Given the description of an element on the screen output the (x, y) to click on. 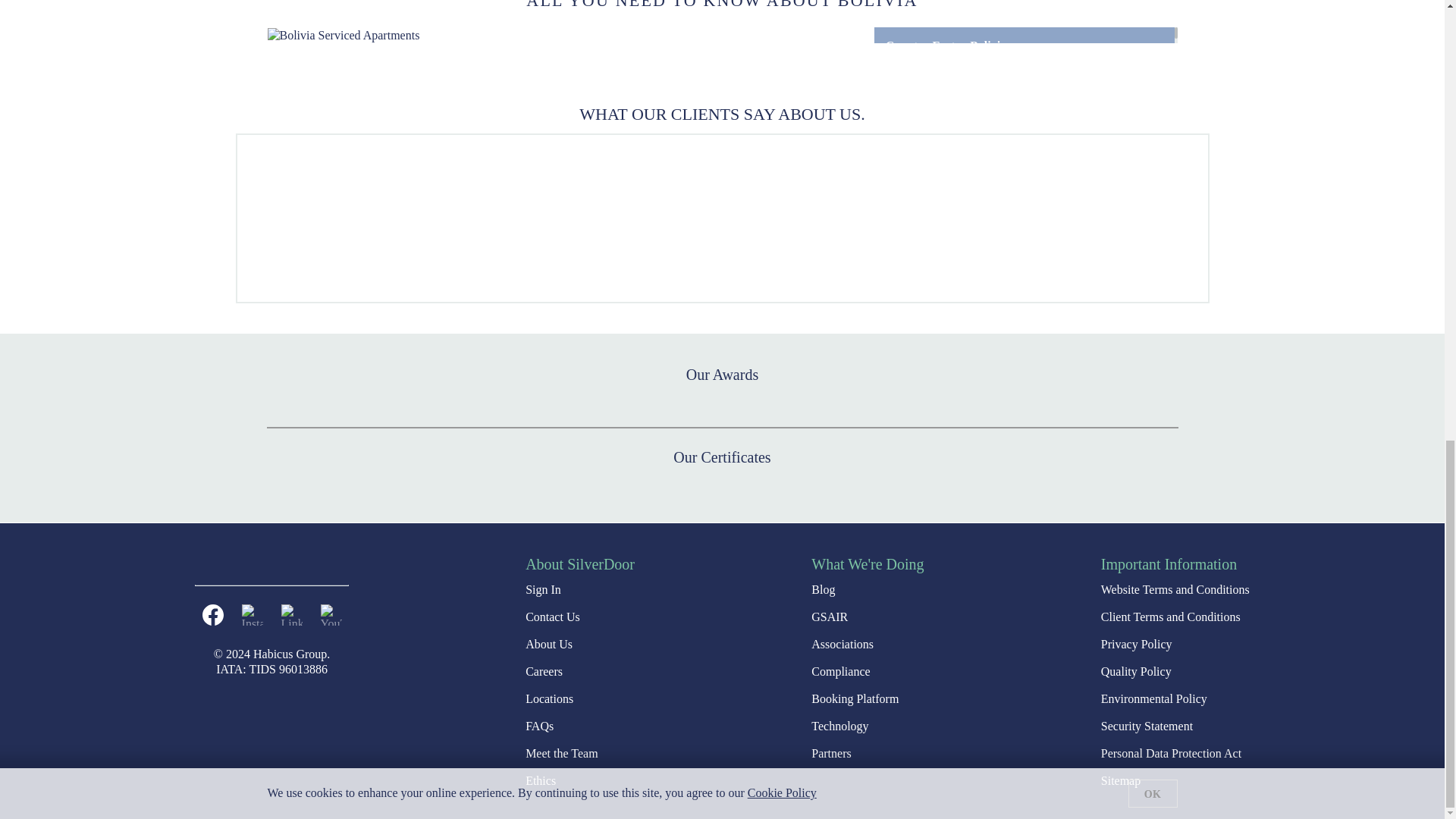
Customer reviews powered by Trustpilot (721, 218)
